Given the description of an element on the screen output the (x, y) to click on. 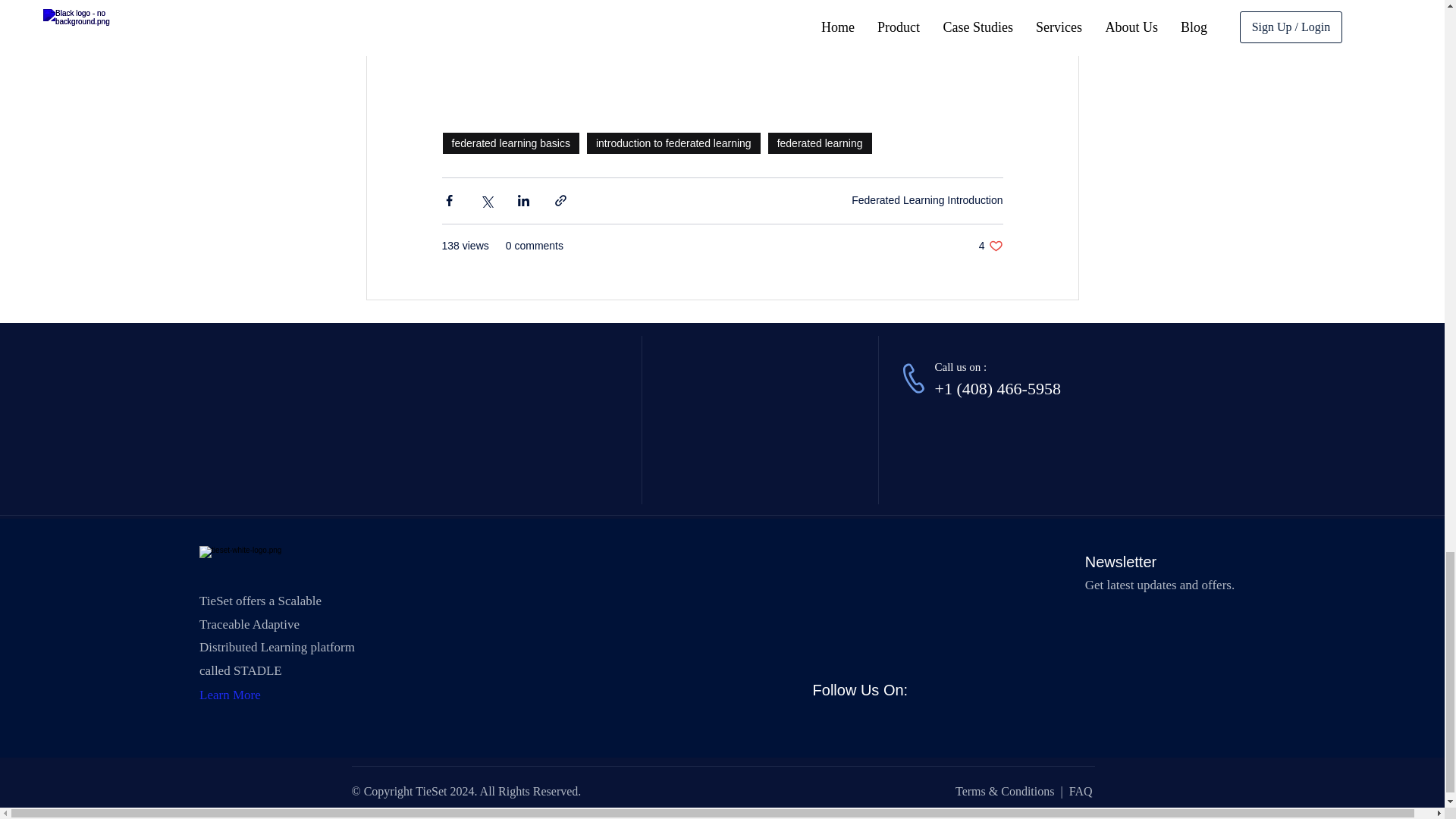
here (483, 36)
federated learning (819, 142)
federated learning basics (510, 142)
Learn More (229, 694)
introduction to federated learning (990, 246)
Federated Learning Introduction (673, 142)
